Given the description of an element on the screen output the (x, y) to click on. 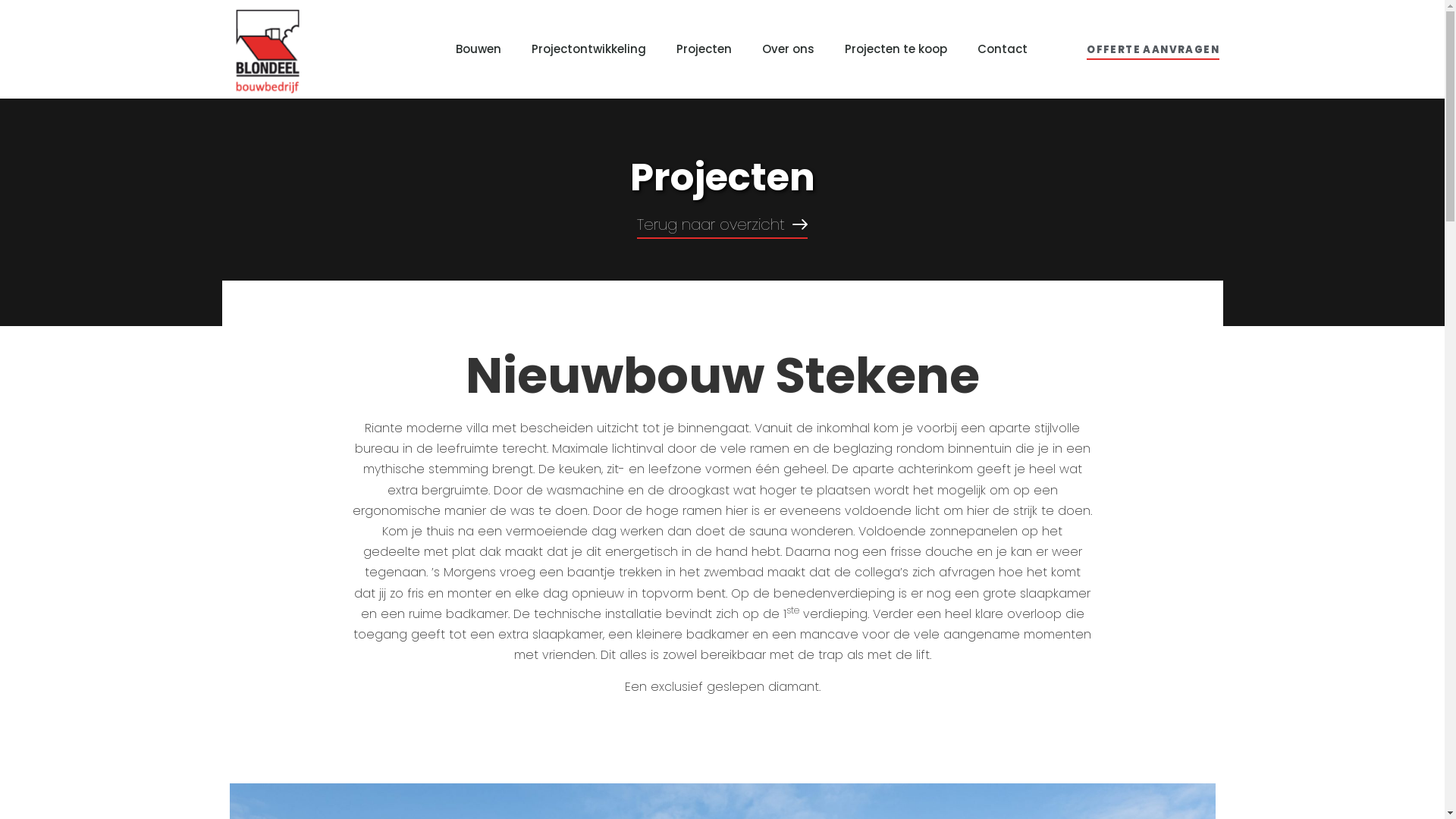
Projecten Element type: text (703, 48)
OFFERTE AANVRAGEN Element type: text (1152, 51)
Over ons Element type: text (787, 48)
Terug naar overzicht Element type: text (722, 227)
Contact Element type: text (1002, 48)
Bouwen Element type: text (478, 48)
Projecten te koop Element type: text (895, 48)
Projectontwikkeling Element type: text (588, 48)
